Given the description of an element on the screen output the (x, y) to click on. 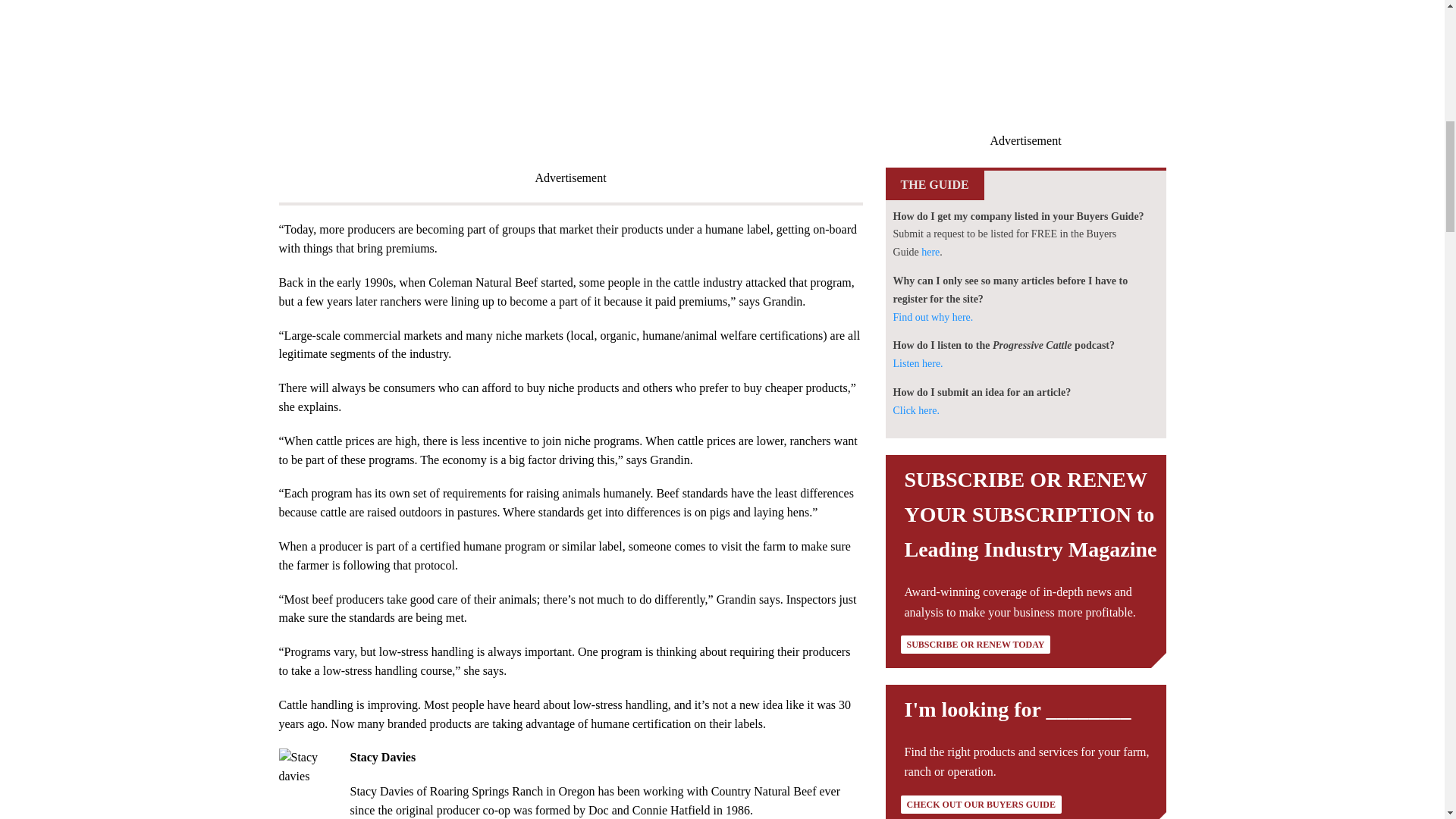
Click here. (916, 410)
SUBSCRIBE OR RENEW TODAY (976, 644)
here (930, 251)
CHECK OUT OUR BUYERS GUIDE (981, 804)
Find out why here. (933, 317)
Listen here. (918, 363)
